Given the description of an element on the screen output the (x, y) to click on. 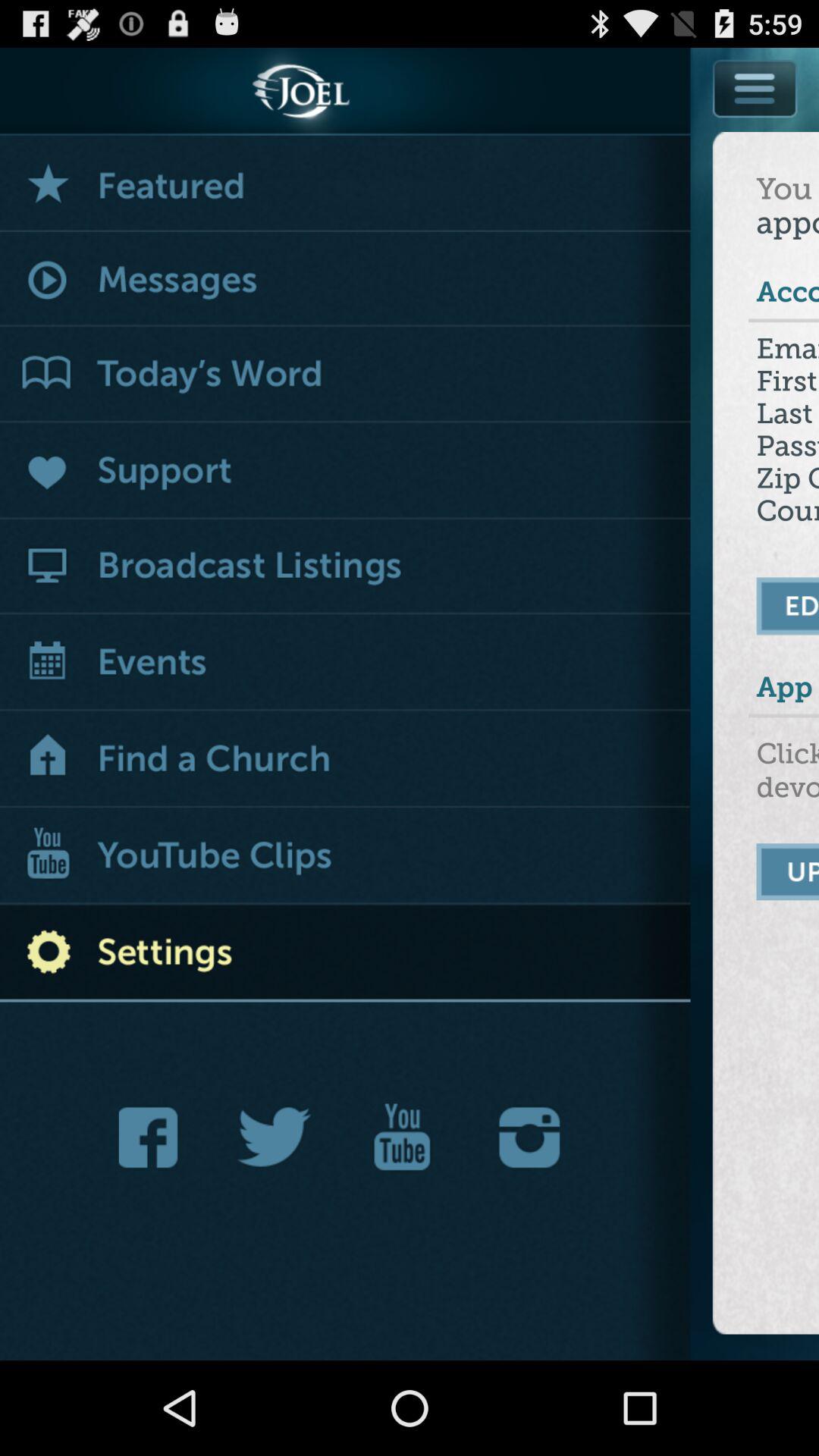
find a church (345, 760)
